Given the description of an element on the screen output the (x, y) to click on. 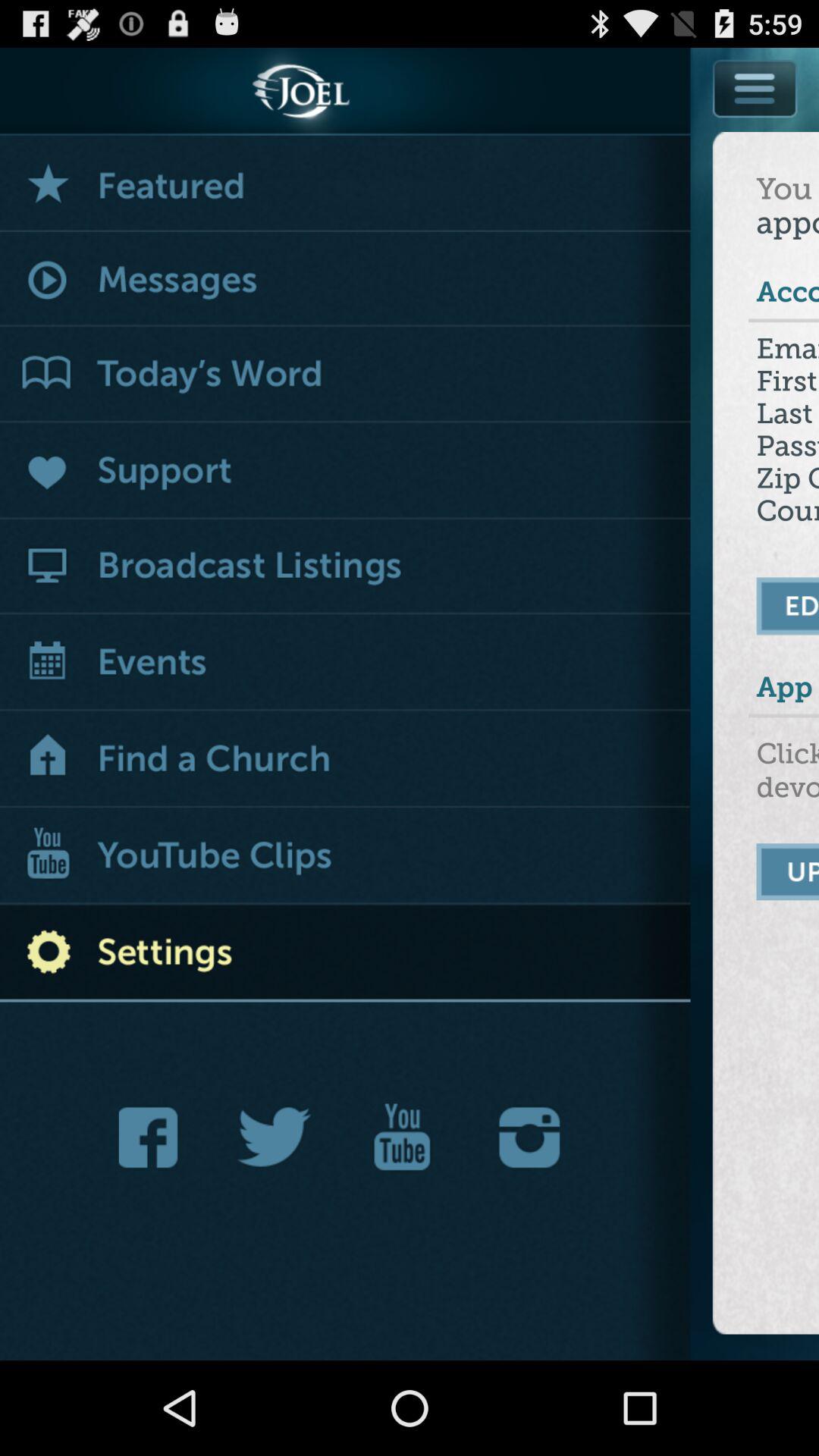
find a church (345, 760)
